Given the description of an element on the screen output the (x, y) to click on. 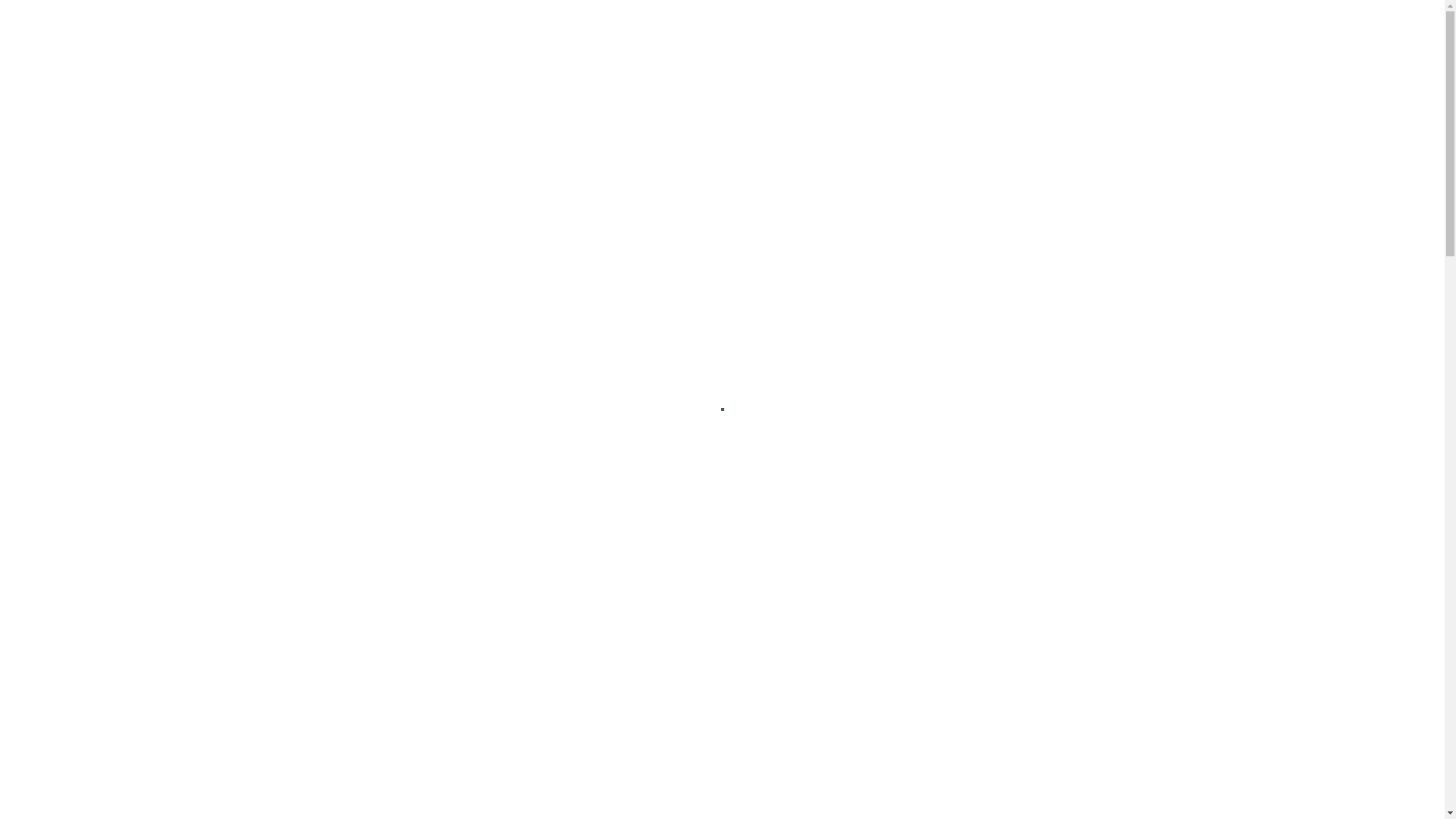
Home Element type: text (314, 158)
About Us Element type: text (690, 81)
Get To Us Element type: text (886, 81)
Services Element type: text (367, 158)
contacts Element type: text (1026, 470)
Useful Features Element type: text (981, 81)
Services Element type: text (763, 81)
0 Element type: text (1135, 81)
Blog Element type: text (822, 81)
Company presentation Element type: text (1038, 227)
Home Element type: text (622, 81)
